Given the description of an element on the screen output the (x, y) to click on. 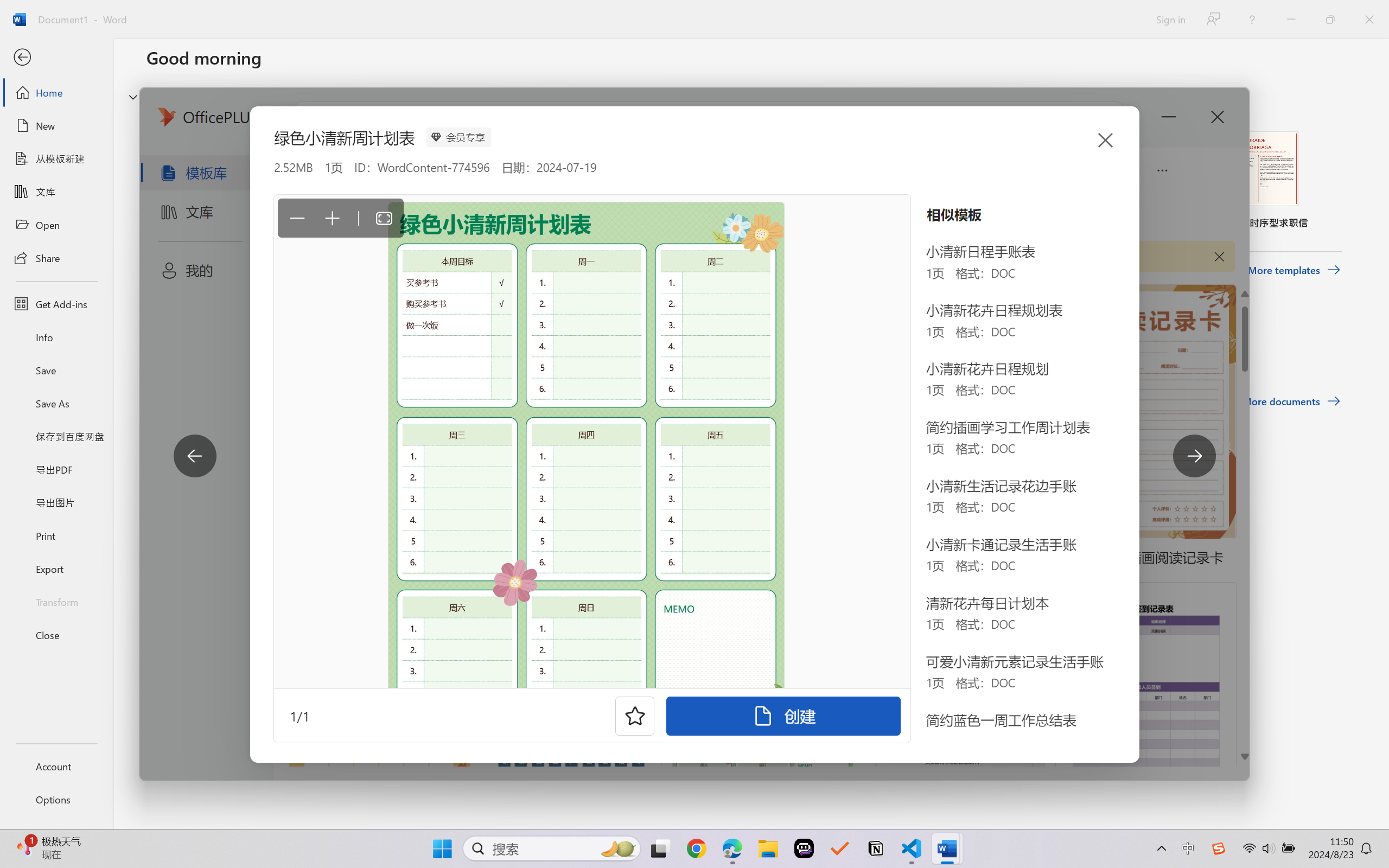
Get Add-ins (56, 303)
